Given the description of an element on the screen output the (x, y) to click on. 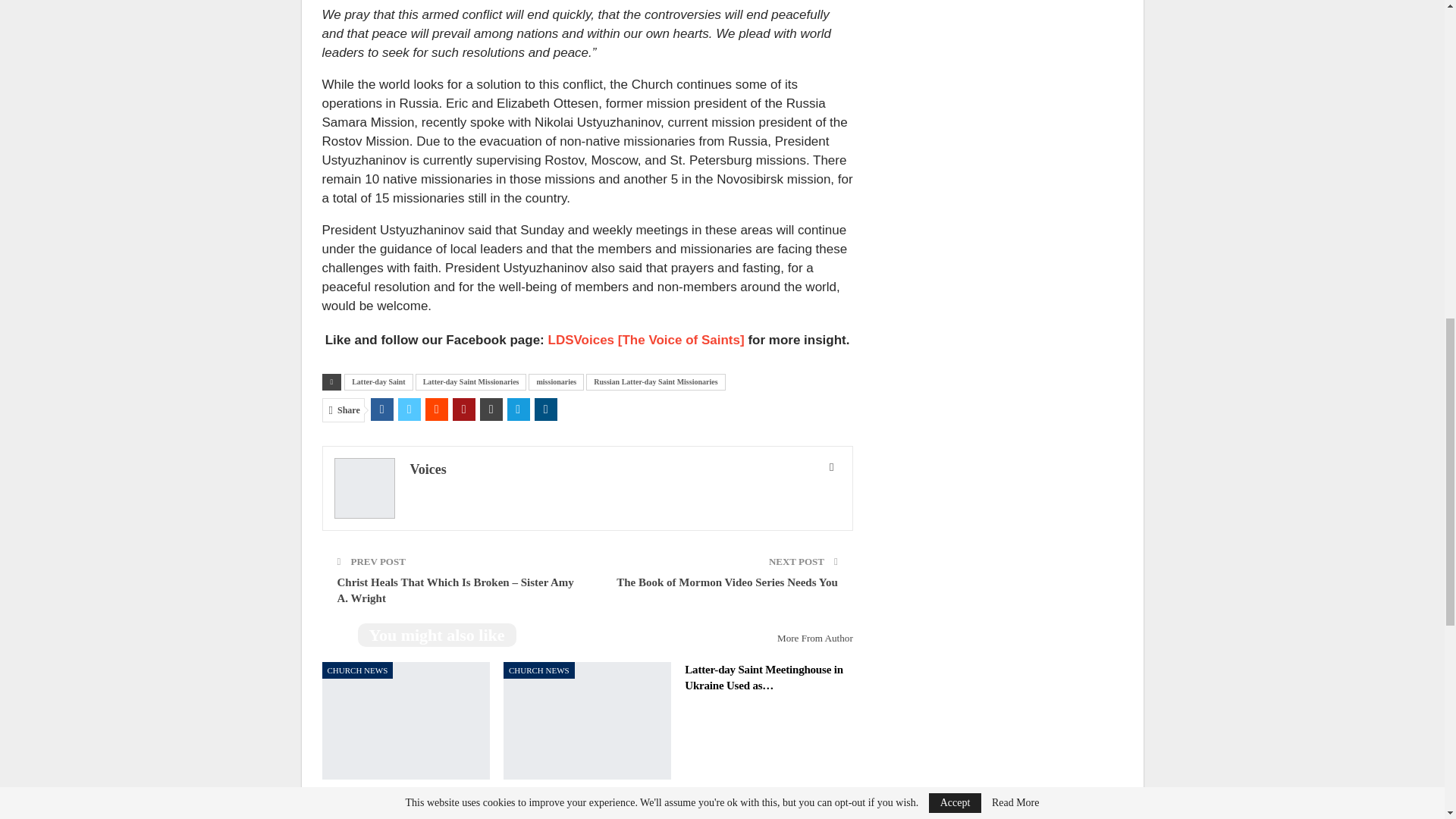
Latter-day Saint Missionaries (470, 381)
Latter-day Saint Volunteers Aid in Florida Hurricane Cleanup (405, 720)
Latter-day Saint Volunteers Aid in Florida Hurricane Cleanup (402, 802)
Russian Latter-day Saint Missionaries (655, 381)
missionaries (555, 381)
Latter-day Saint (377, 381)
